Given the description of an element on the screen output the (x, y) to click on. 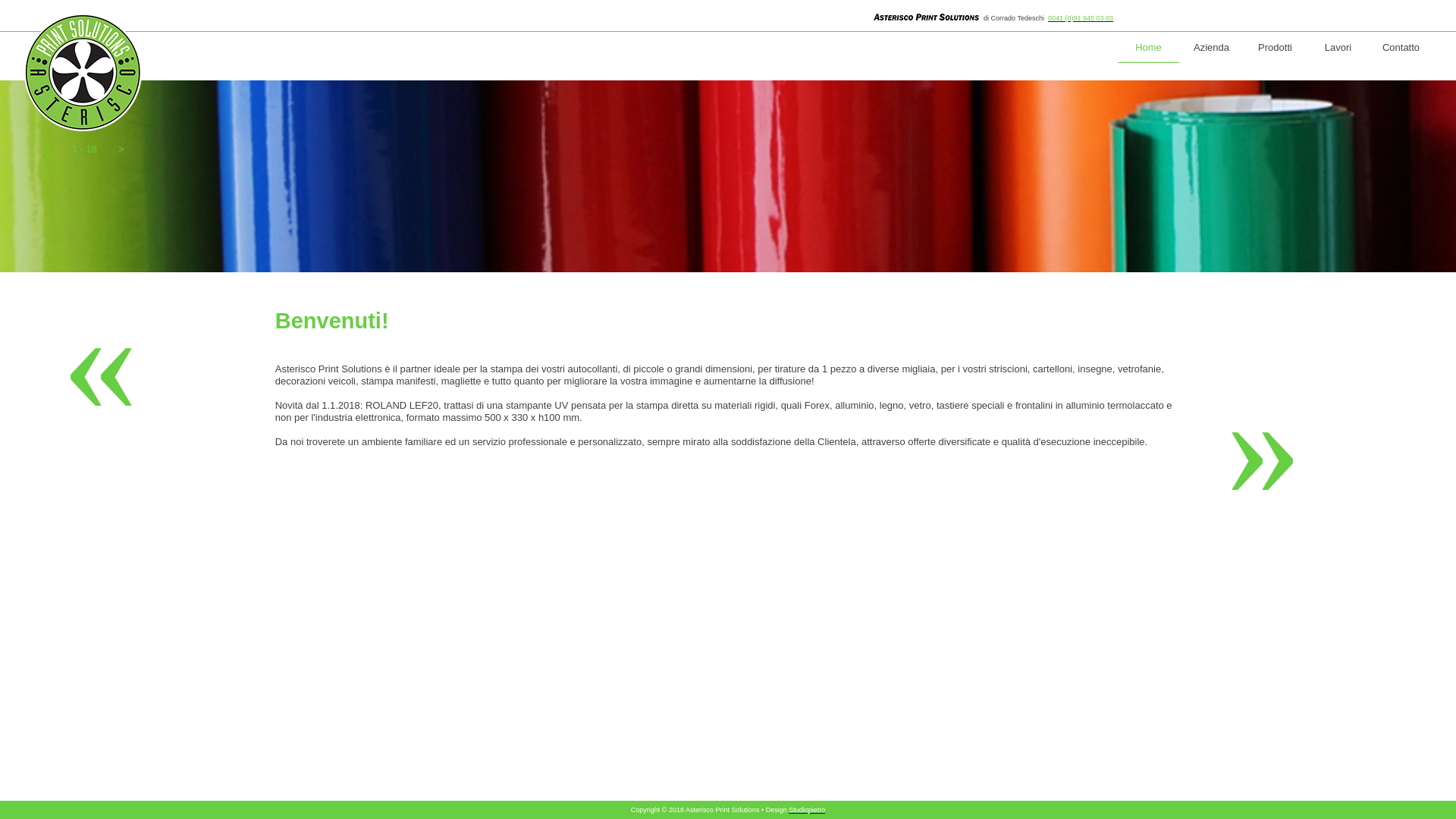
Azienda Element type: text (1211, 48)
Contatto Element type: text (1400, 48)
Studiopietro Element type: text (806, 809)
Lavori Element type: text (1337, 48)
Home Element type: text (1148, 48)
0041 (0)91 945 03 03 Element type: text (1080, 17)
Prodotti Element type: text (1274, 48)
